Given the description of an element on the screen output the (x, y) to click on. 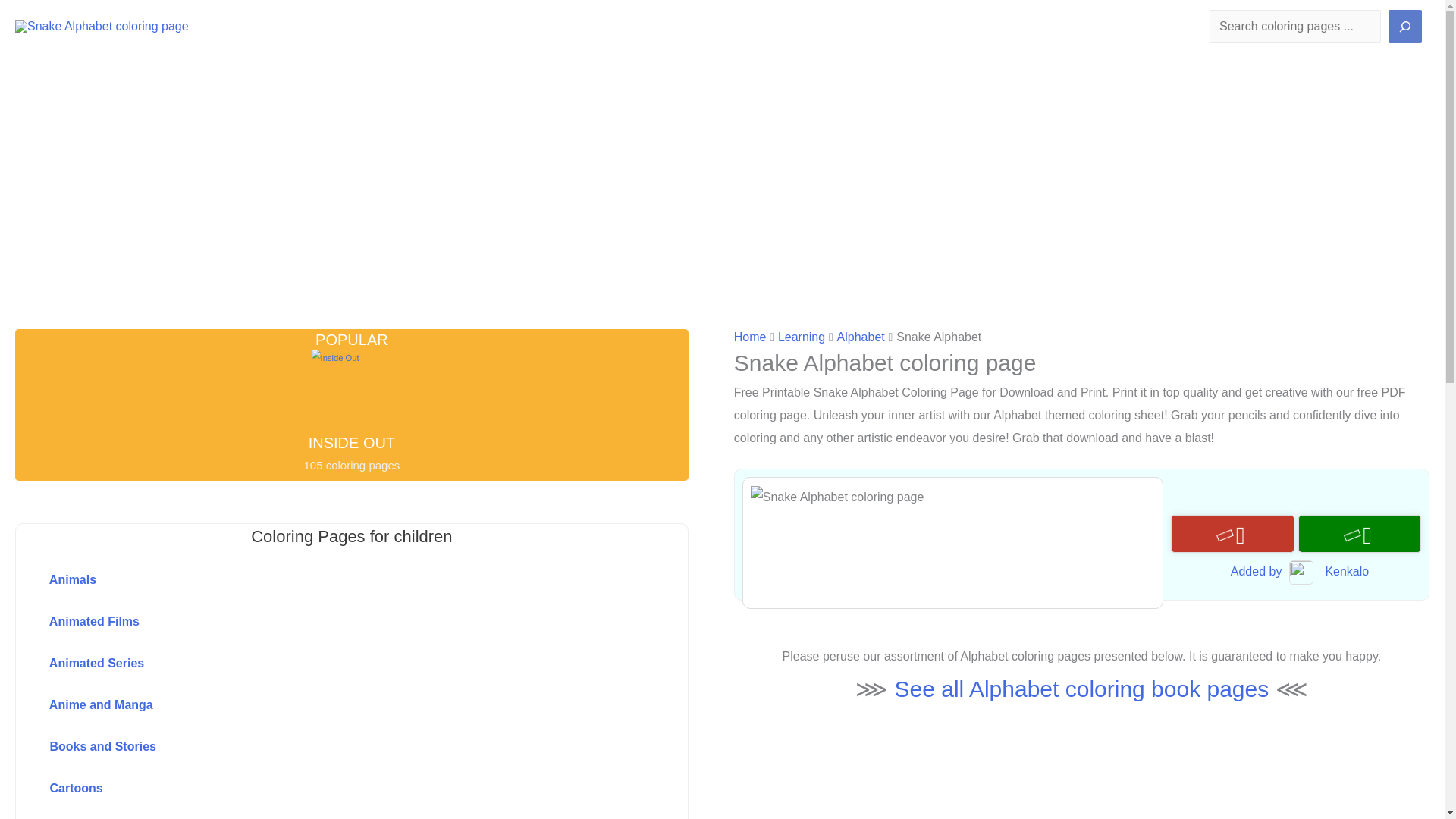
Animals (318, 580)
Anime and Manga (318, 706)
Books and Stories coloring pages (318, 747)
Animated Series (318, 664)
Anime and Manga coloring pages (318, 706)
Animated Films coloring pages (318, 622)
Animated Series coloring pages (318, 664)
Cartoons coloring pages (318, 788)
Animated Films (318, 622)
